Given the description of an element on the screen output the (x, y) to click on. 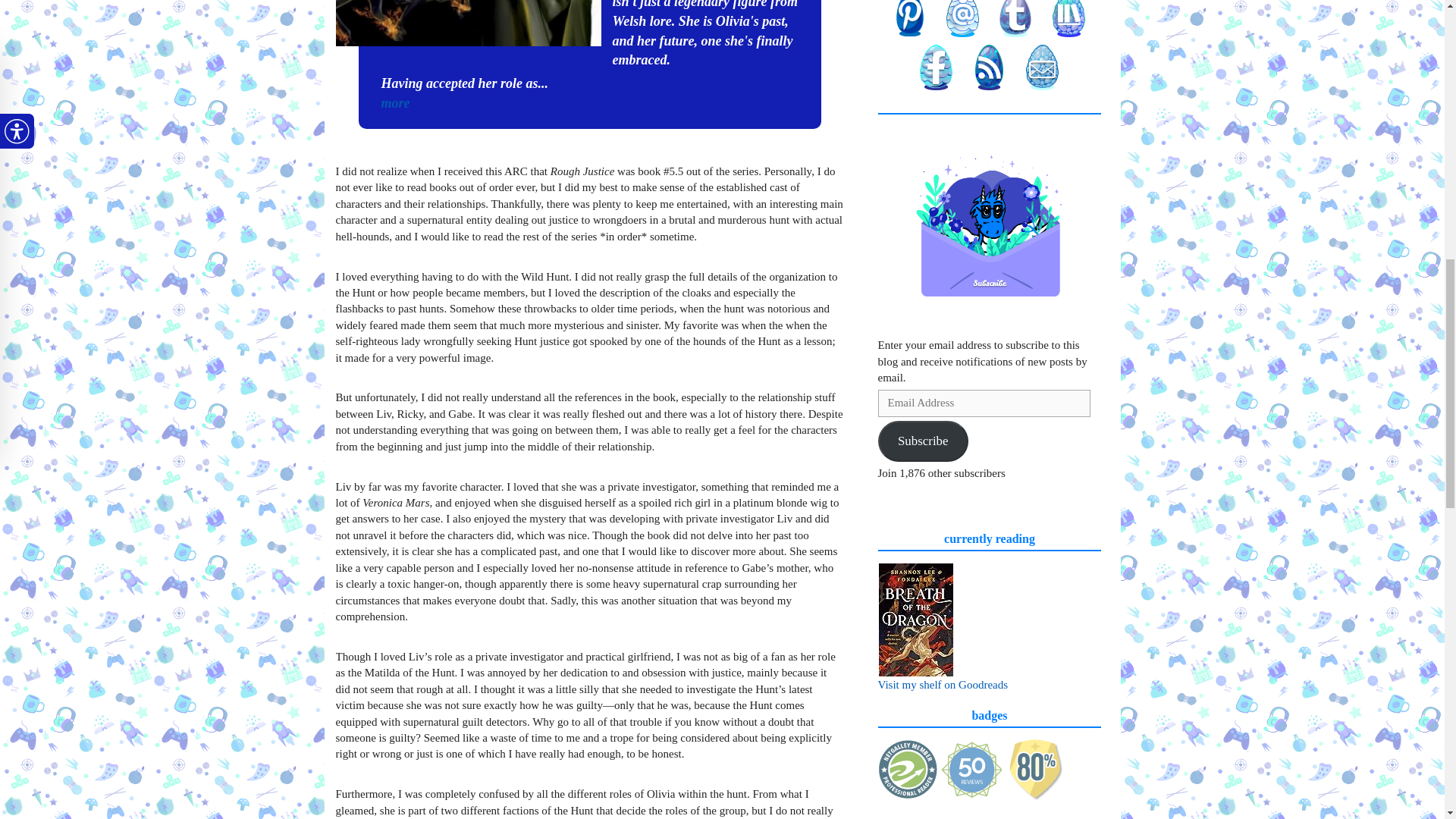
Book Review : Rough Justice (466, 22)
Follow Button (989, 504)
Professional Reader (908, 769)
more (394, 102)
